Given the description of an element on the screen output the (x, y) to click on. 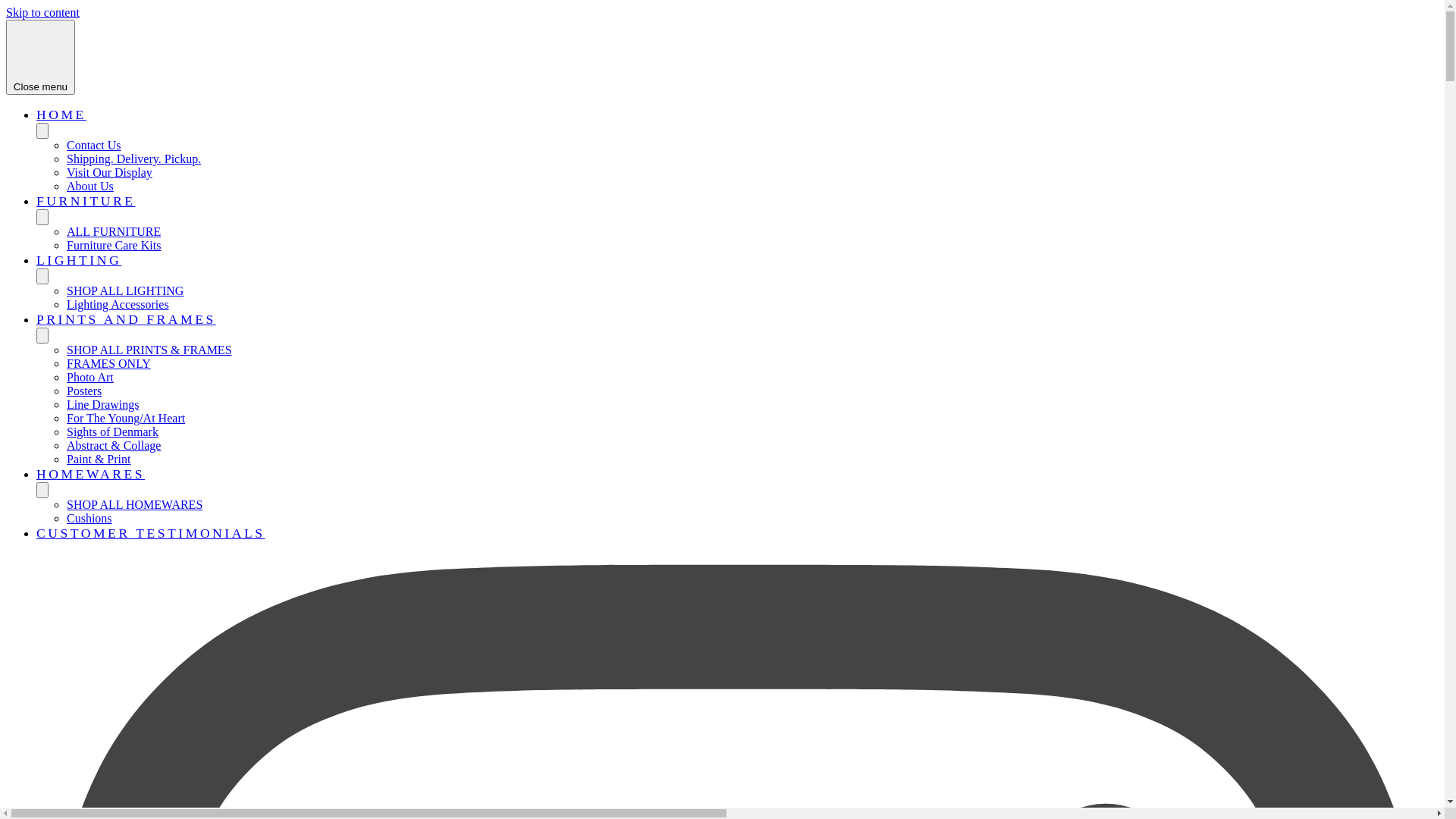
For The Young/At Heart Element type: text (125, 417)
ALL FURNITURE Element type: text (113, 231)
Line Drawings Element type: text (102, 404)
Paint & Print Element type: text (98, 458)
PRINTS AND FRAMES Element type: text (126, 318)
FRAMES ONLY Element type: text (108, 363)
SHOP ALL PRINTS & FRAMES Element type: text (149, 349)
Close menu Element type: text (40, 56)
Cushions Element type: text (89, 517)
Abstract & Collage Element type: text (113, 445)
Contact Us Element type: text (93, 144)
Skip to content Element type: text (42, 12)
About Us Element type: text (89, 185)
LIGHTING Element type: text (78, 259)
HOME Element type: text (61, 114)
Sights of Denmark Element type: text (112, 431)
SHOP ALL LIGHTING Element type: text (124, 290)
CUSTOMER TESTIMONIALS Element type: text (150, 532)
Photo Art Element type: text (89, 376)
FURNITURE Element type: text (85, 200)
Lighting Accessories Element type: text (117, 304)
SHOP ALL HOMEWARES Element type: text (134, 504)
Visit Our Display Element type: text (109, 172)
Posters Element type: text (83, 390)
Shipping. Delivery. Pickup. Element type: text (133, 158)
HOMEWARES Element type: text (90, 473)
Furniture Care Kits Element type: text (113, 244)
